Given the description of an element on the screen output the (x, y) to click on. 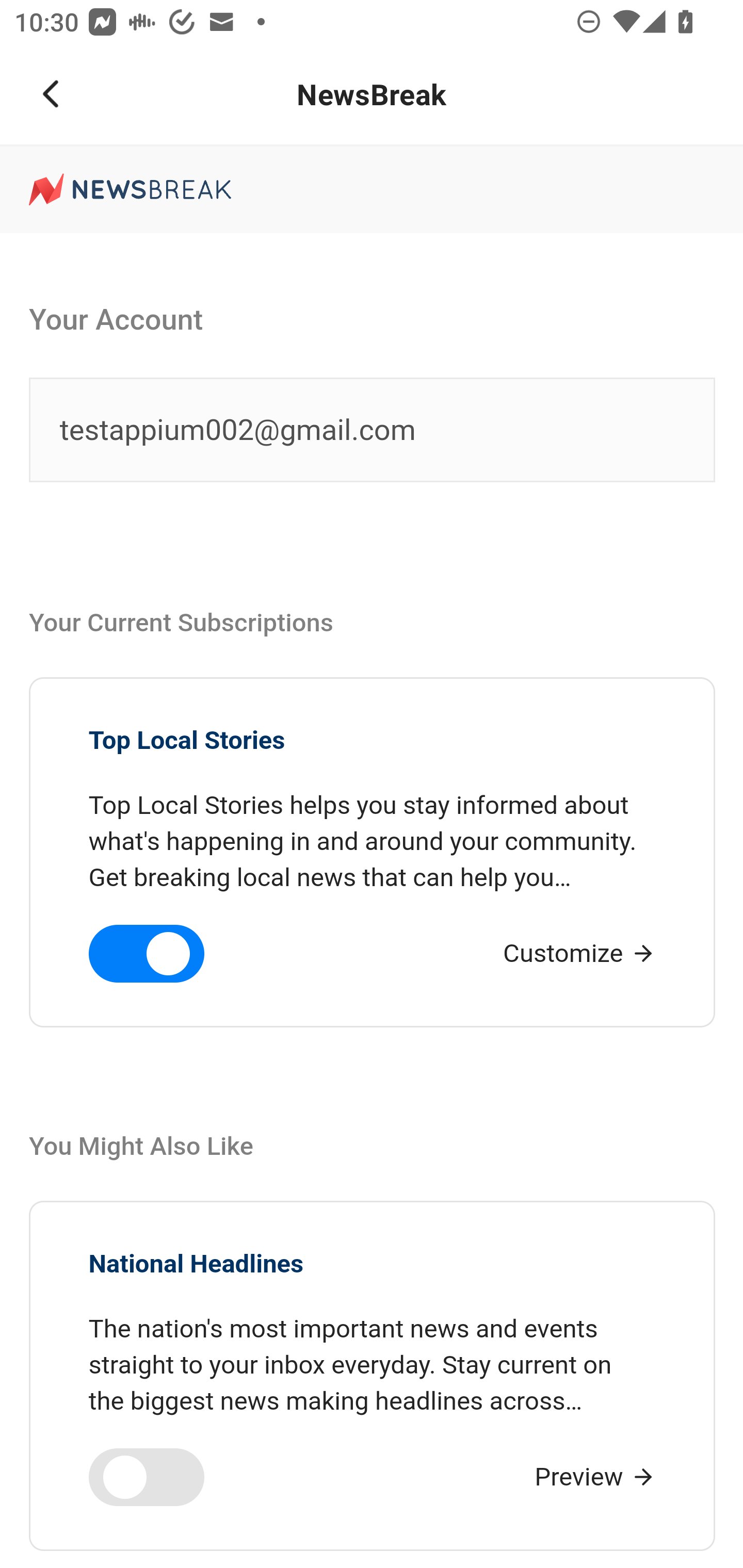
Navigate up (50, 93)
testappium002@gmail.com (372, 430)
Customize (579, 952)
Preview (595, 1476)
